Given the description of an element on the screen output the (x, y) to click on. 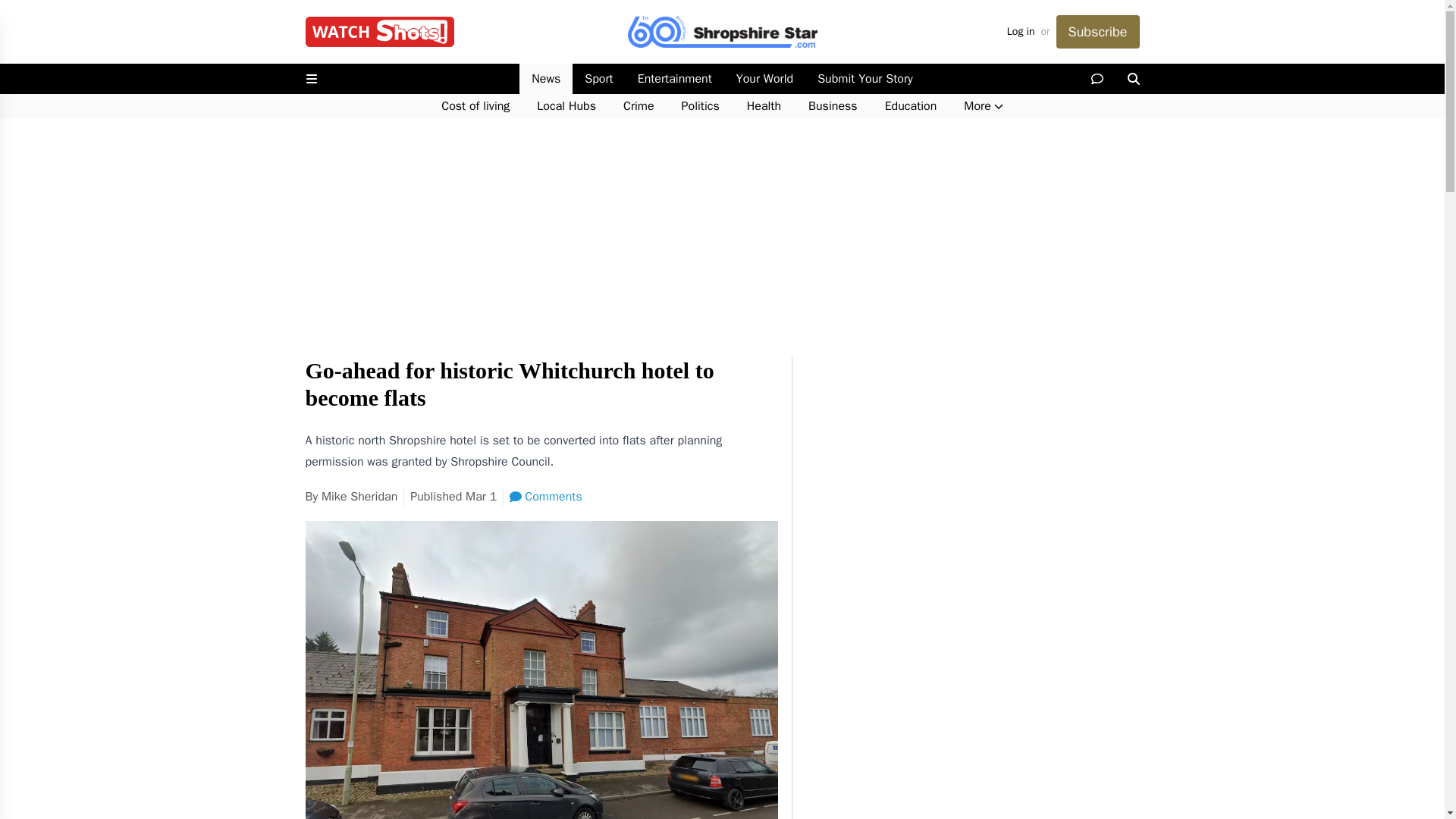
Business (832, 105)
Your World (764, 78)
Log in (1021, 31)
Health (764, 105)
Politics (700, 105)
More (983, 105)
Crime (638, 105)
Entertainment (674, 78)
Subscribe (1096, 31)
Cost of living (475, 105)
Education (910, 105)
News (545, 78)
Submit Your Story (864, 78)
Local Hubs (566, 105)
Sport (598, 78)
